Given the description of an element on the screen output the (x, y) to click on. 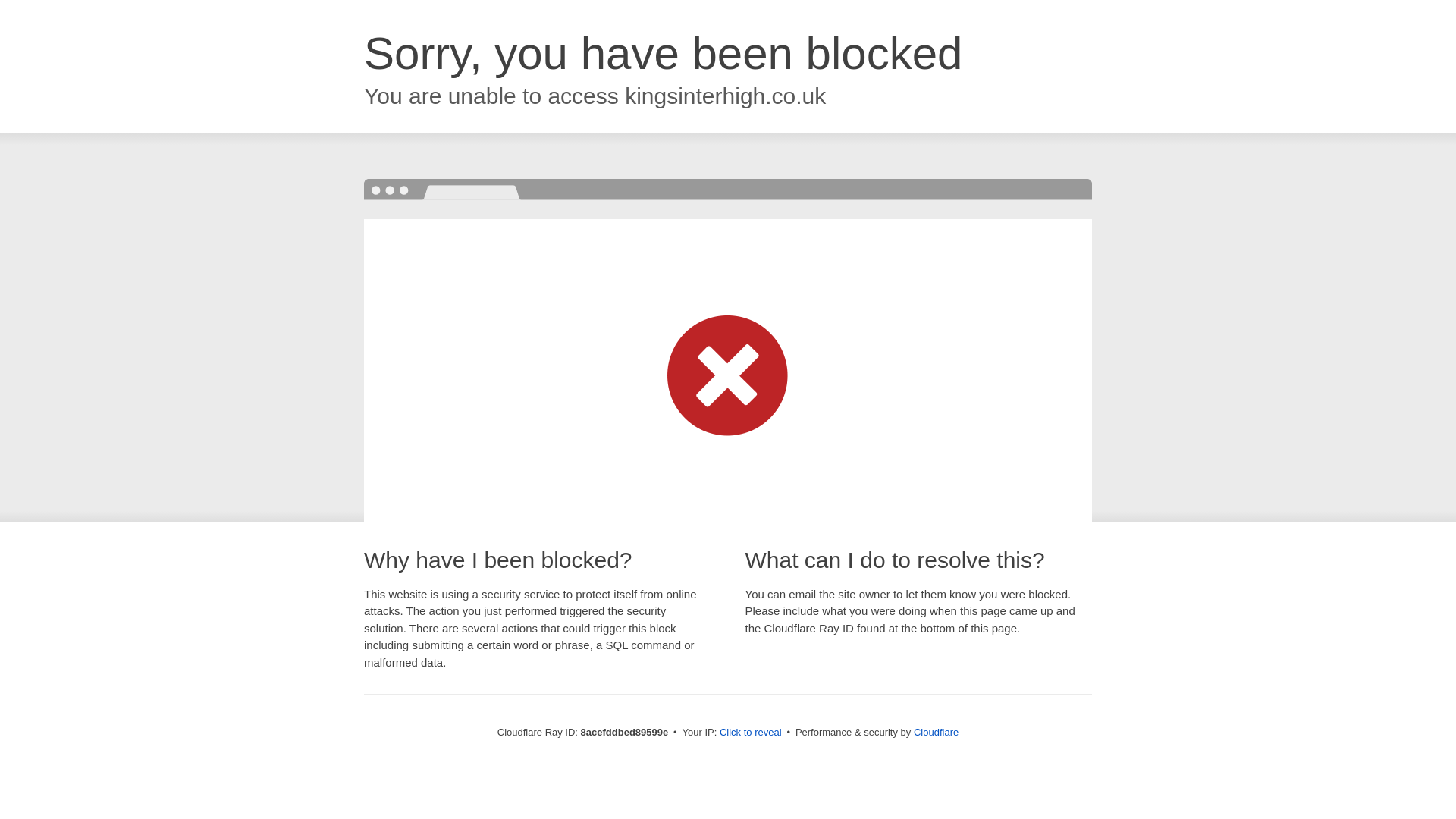
Click to reveal (750, 732)
Cloudflare (936, 731)
